Given the description of an element on the screen output the (x, y) to click on. 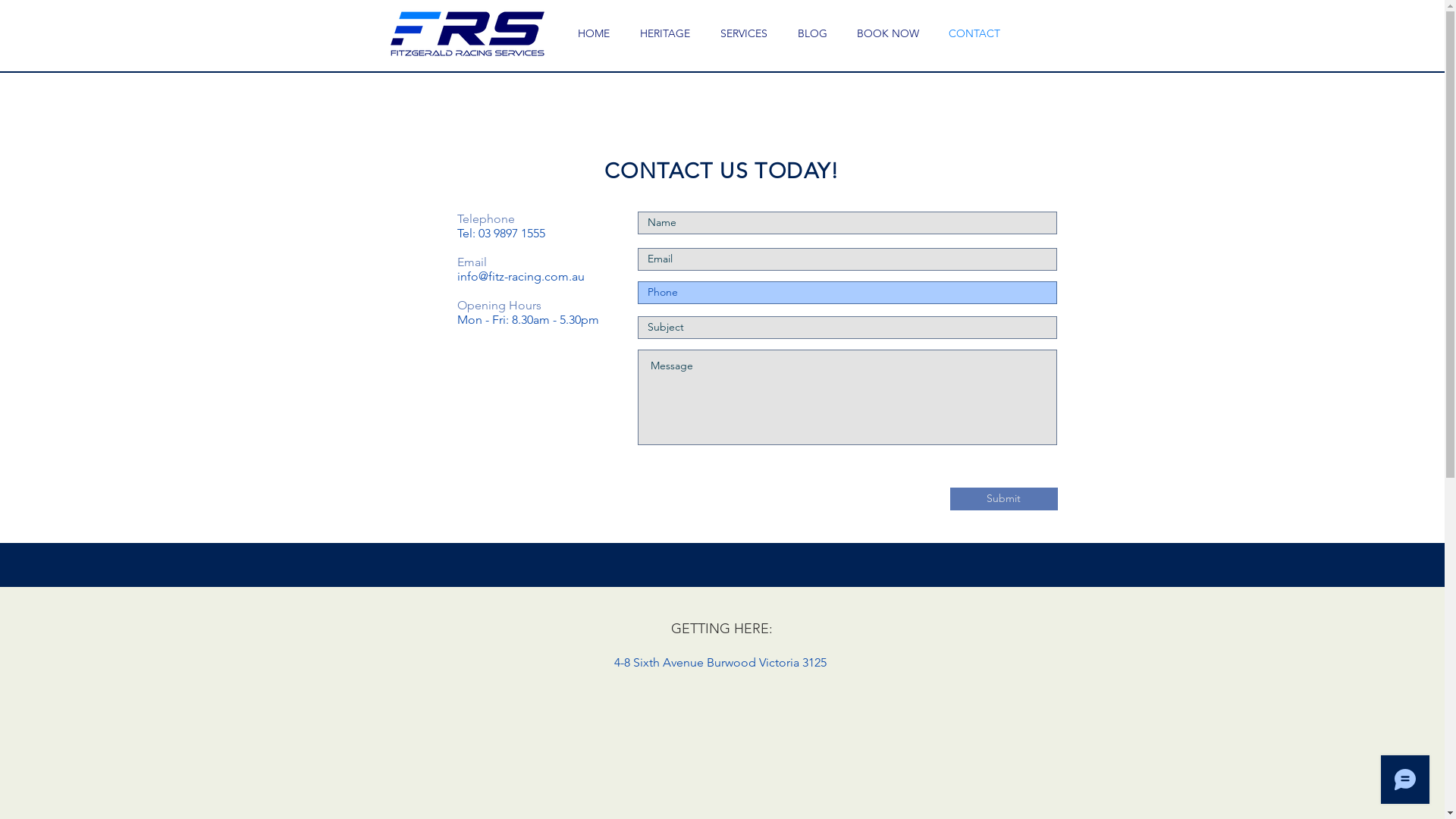
Submit Element type: text (1003, 498)
CONTACT Element type: text (974, 33)
info@fitz-racing.com.au Element type: text (519, 276)
BLOG Element type: text (812, 33)
Log In Element type: text (1020, 57)
BOOK NOW Element type: text (887, 33)
HOME Element type: text (593, 33)
0 Element type: text (1080, 35)
SERVICES Element type: text (743, 33)
HERITAGE Element type: text (664, 33)
